Given the description of an element on the screen output the (x, y) to click on. 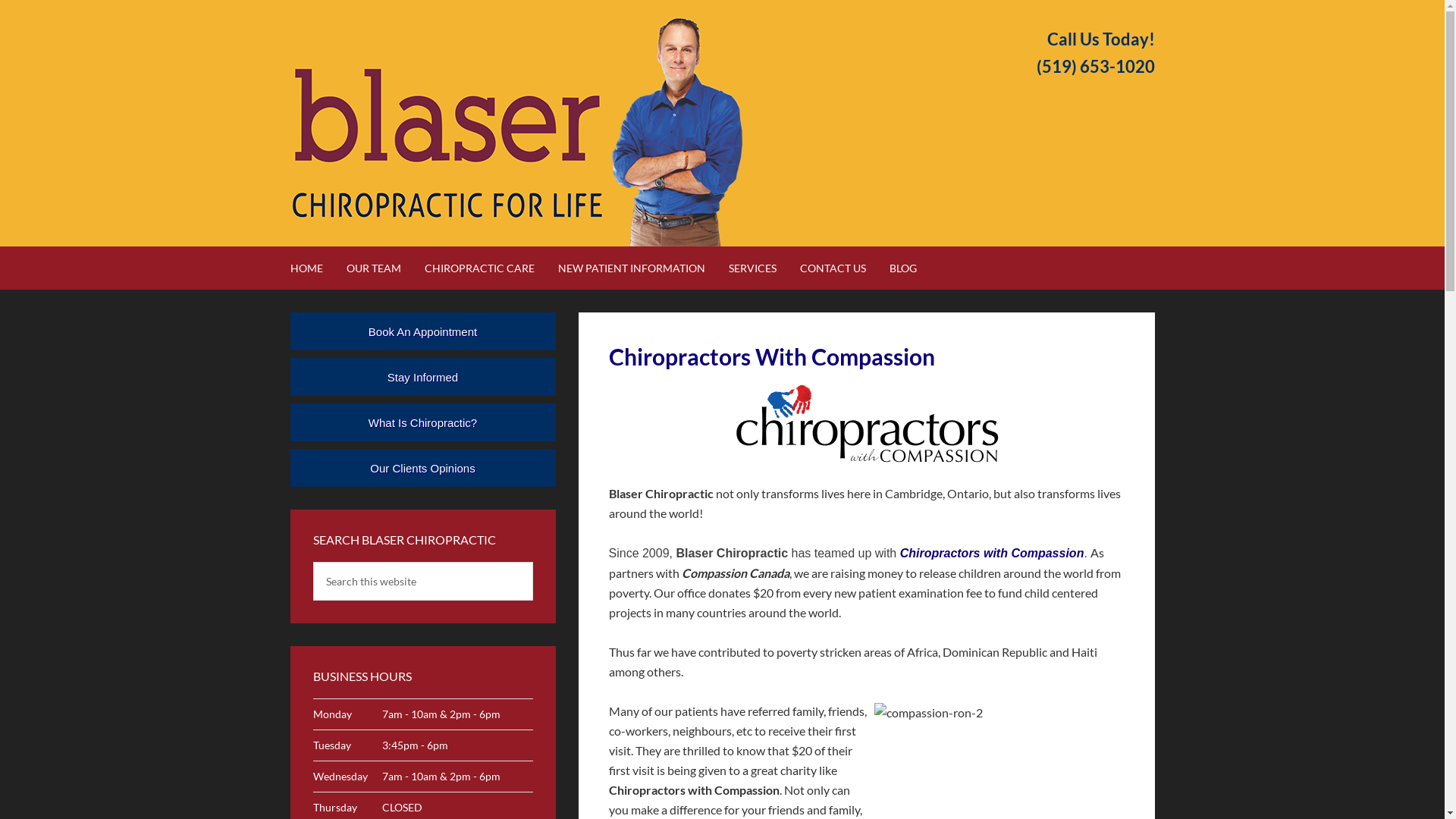
Stay Informed Element type: text (422, 376)
Our Clients Opinions Element type: text (422, 467)
CHIROPRACTIC CARE Element type: text (489, 267)
OUR TEAM Element type: text (383, 267)
BLASER CHIROPRACTIC Element type: text (516, 130)
SERVICES Element type: text (762, 267)
Search Element type: text (532, 561)
NEW PATIENT INFORMATION Element type: text (642, 267)
Chiropractors with Compassion website Element type: hover (865, 420)
BLOG Element type: text (912, 267)
CONTACT US Element type: text (842, 267)
Chiropractors with Compassion Element type: text (992, 552)
Book An Appointment Element type: text (422, 331)
What Is Chiropractic? Element type: text (422, 422)
HOME Element type: text (316, 267)
